Given the description of an element on the screen output the (x, y) to click on. 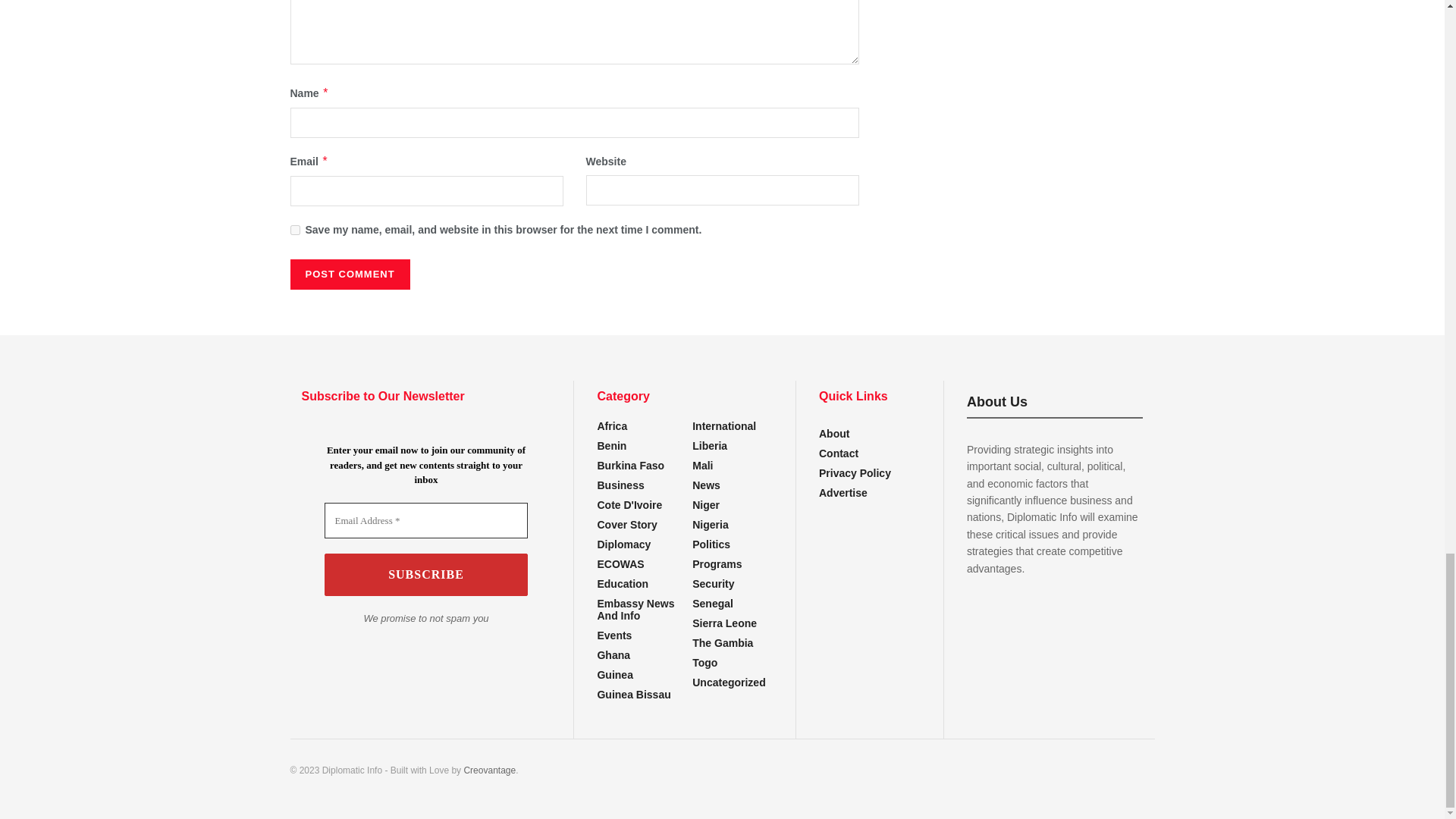
Post Comment (349, 274)
Subscribe (426, 574)
yes (294, 230)
Email Address (426, 520)
